Given the description of an element on the screen output the (x, y) to click on. 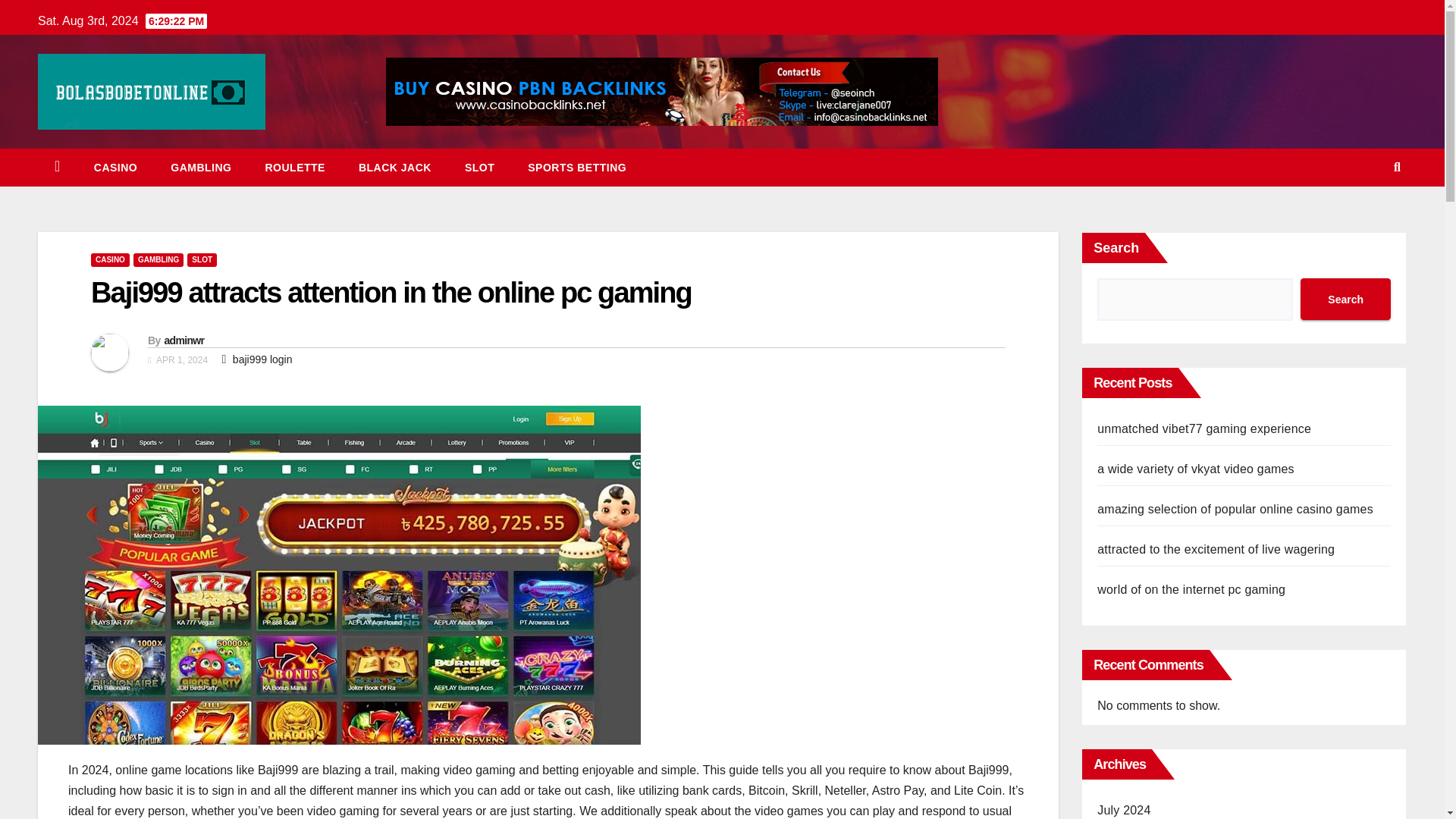
SLOT (479, 167)
ROULETTE (293, 167)
CASINO (115, 167)
GAMBLING (200, 167)
GAMBLING (158, 259)
ROULETTE (293, 167)
SLOT (479, 167)
Baji999 attracts attention in the online pc gaming (390, 292)
SLOT (201, 259)
CASINO (115, 167)
BLACK JACK (395, 167)
SPORTS BETTING (577, 167)
adminwr (183, 340)
baji999 login (262, 358)
